Given the description of an element on the screen output the (x, y) to click on. 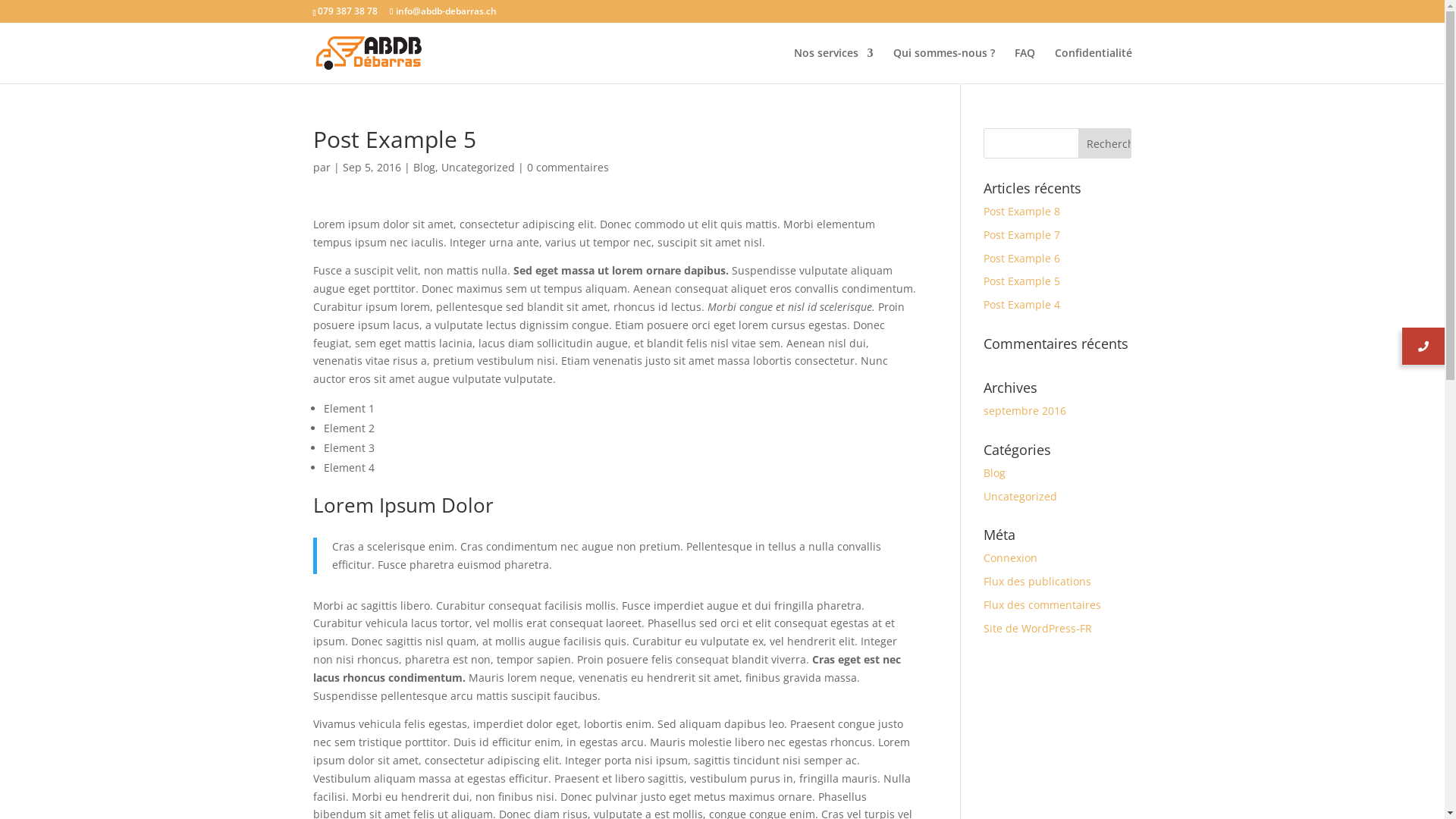
Connexion Element type: text (1010, 557)
FAQ Element type: text (1024, 65)
Post Example 8 Element type: text (1021, 210)
Post Example 6 Element type: text (1021, 258)
0 commentaires Element type: text (567, 167)
Site de WordPress-FR Element type: text (1037, 628)
Uncategorized Element type: text (477, 167)
Post Example 4 Element type: text (1021, 304)
septembre 2016 Element type: text (1024, 410)
Qui sommes-nous ? Element type: text (943, 65)
Uncategorized Element type: text (1020, 496)
Flux des publications Element type: text (1037, 581)
info@abdb-debarras.ch Element type: text (442, 10)
Nos services Element type: text (832, 65)
Flux des commentaires Element type: text (1042, 604)
Post Example 7 Element type: text (1021, 234)
Post Example 5 Element type: text (1021, 280)
Rechercher Element type: text (1104, 143)
Blog Element type: text (423, 167)
Blog Element type: text (994, 472)
